Given the description of an element on the screen output the (x, y) to click on. 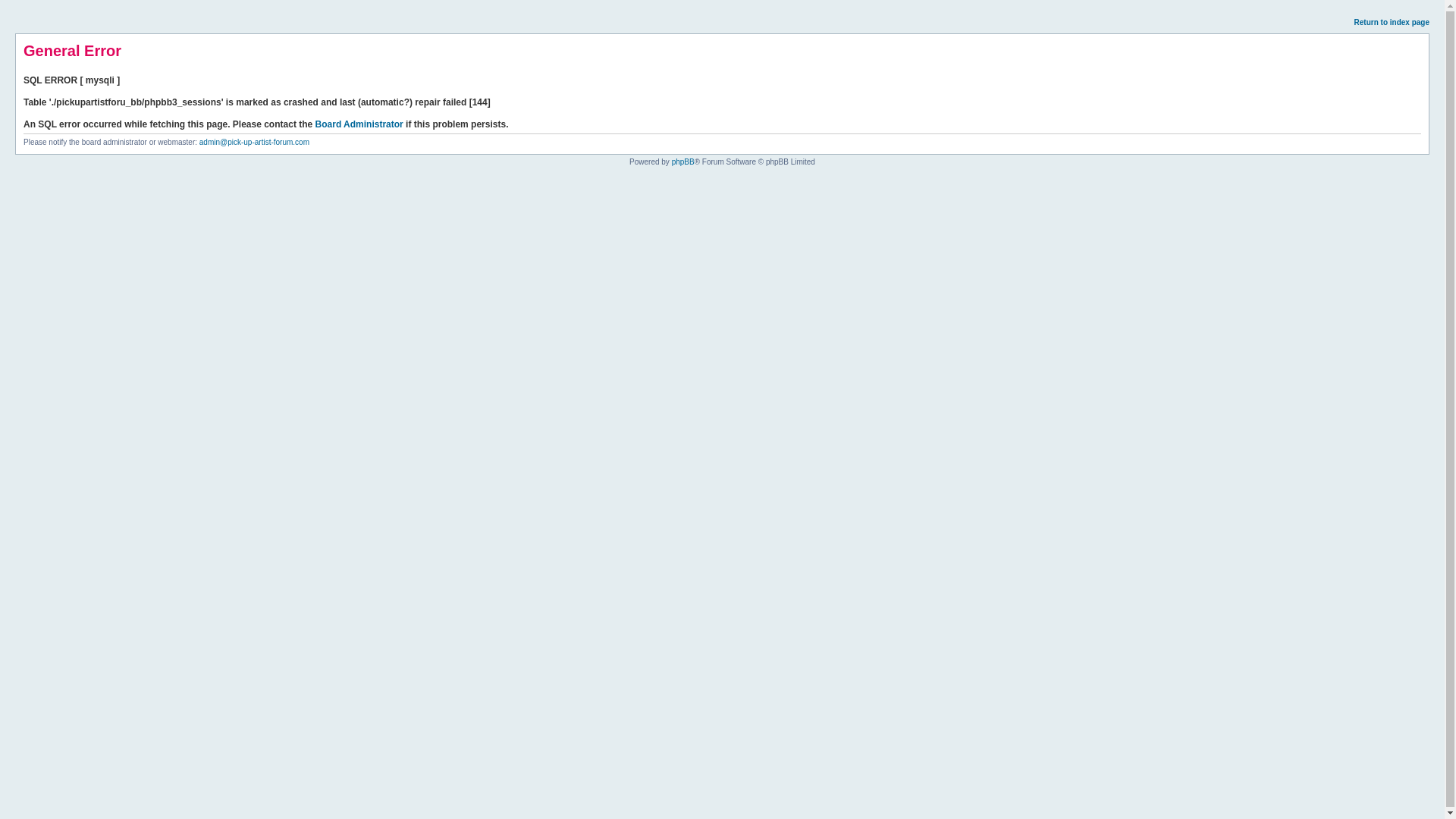
Return to index page (1391, 22)
Board Administrator (359, 123)
phpBB (682, 162)
